Given the description of an element on the screen output the (x, y) to click on. 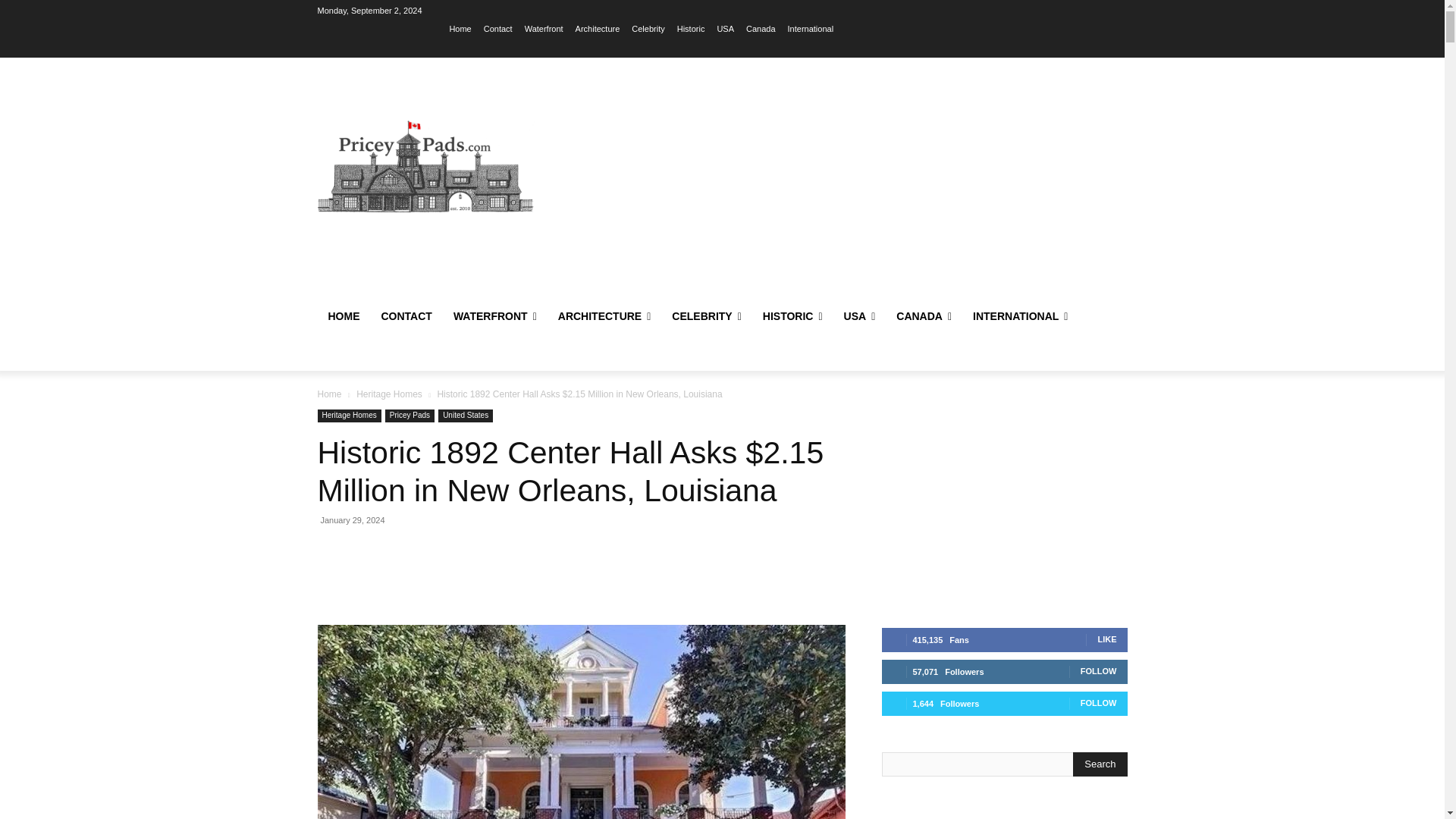
Canada (760, 28)
Waterfront (543, 28)
CONTACT (405, 316)
International (810, 28)
HOME (343, 316)
Contact (497, 28)
Celebrity (647, 28)
WATERFRONT (494, 316)
Home (459, 28)
Historic (690, 28)
